Given the description of an element on the screen output the (x, y) to click on. 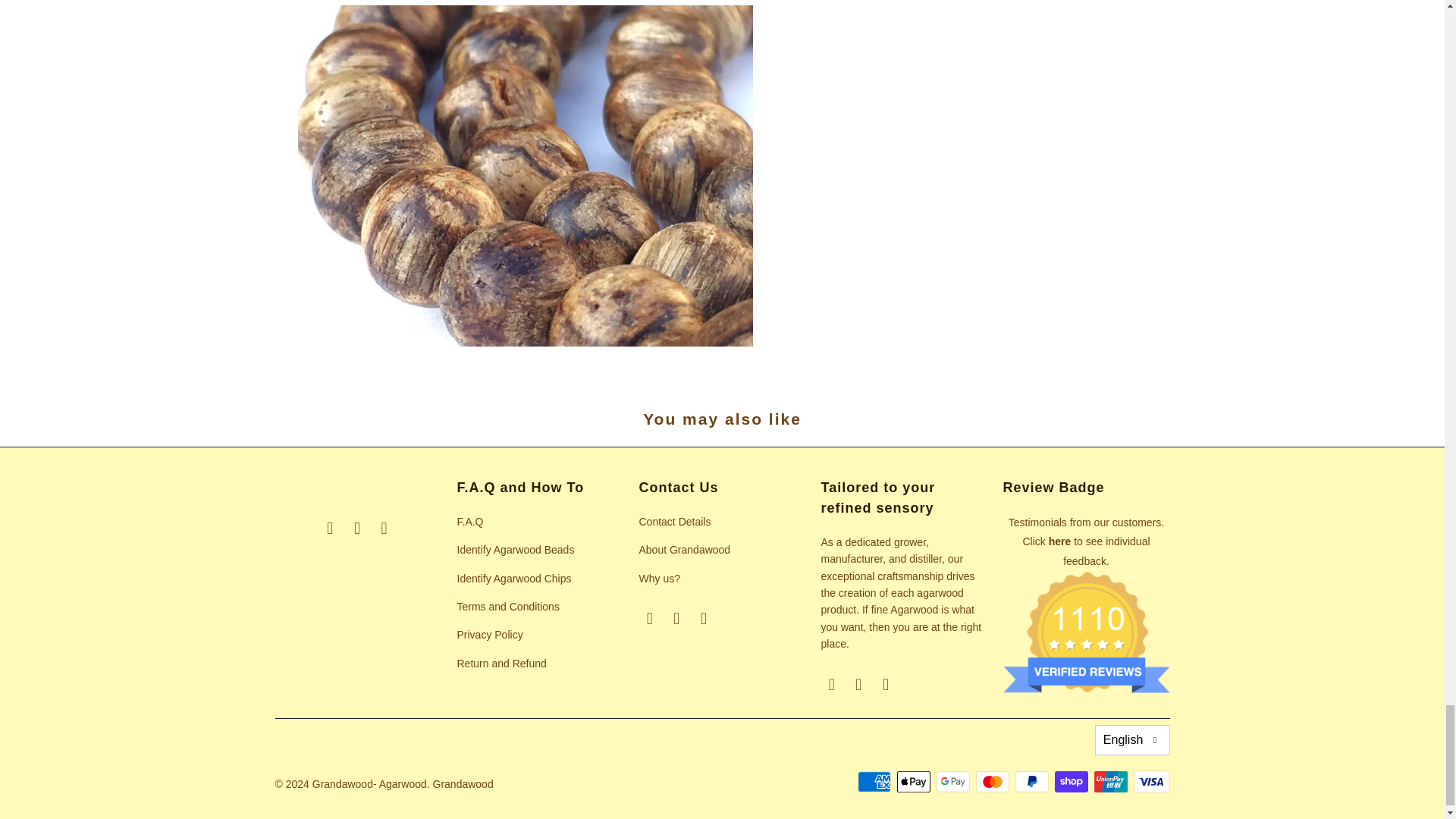
Apple Pay (914, 781)
Grandawood- Agarwood on Facebook (357, 528)
Email Grandawood- Agarwood (330, 528)
Grandawood- Agarwood on Facebook (676, 618)
American Express (875, 781)
Google Pay (954, 781)
PayPal (1032, 781)
Grandawood- Agarwood on Instagram (384, 528)
Visa (1150, 781)
Shop Pay (1072, 781)
